Given the description of an element on the screen output the (x, y) to click on. 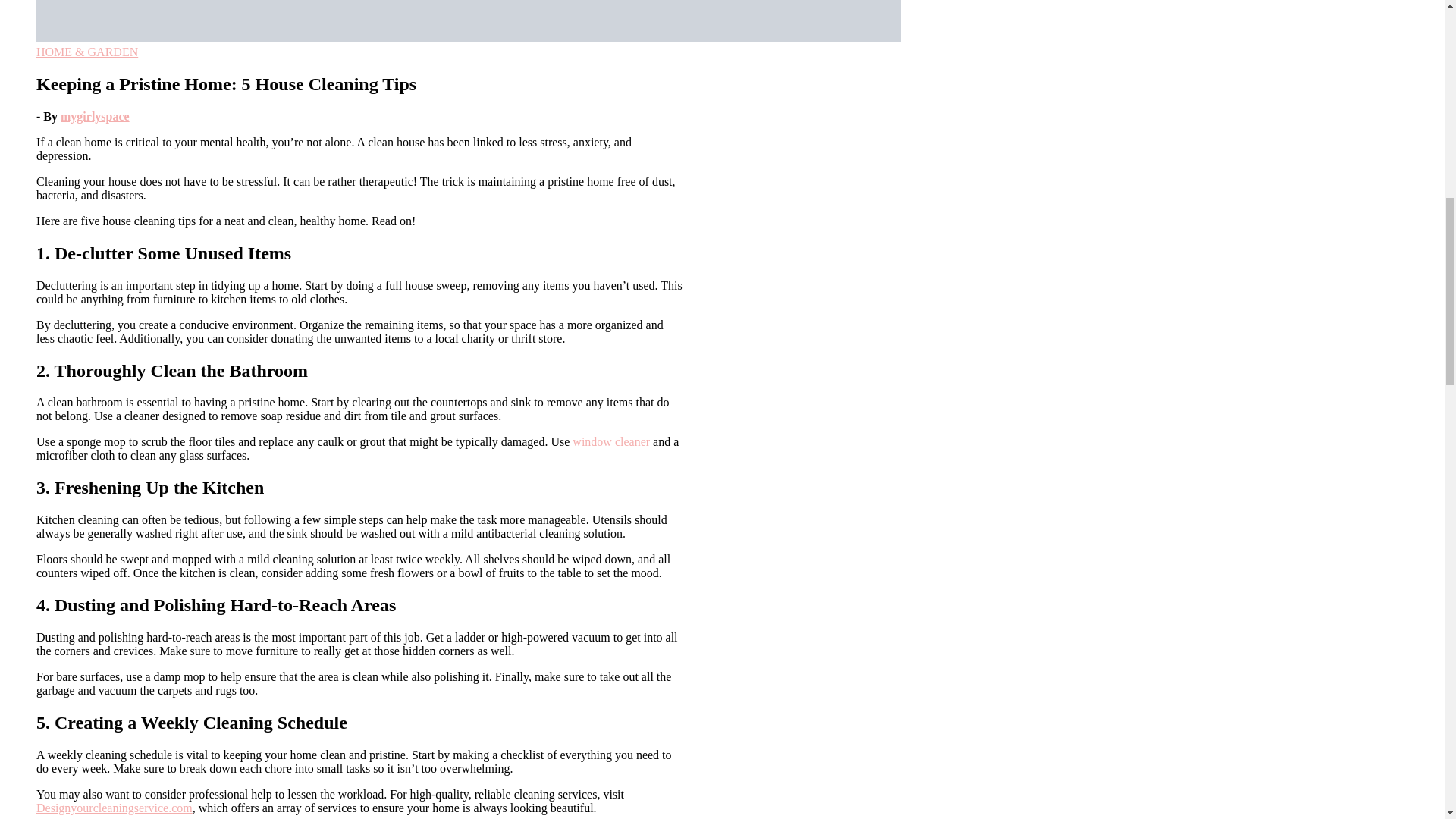
Posts by mygirlyspace (95, 115)
window cleaner (610, 440)
Designyourcleaningservice.com (114, 807)
mygirlyspace (95, 115)
